Given the description of an element on the screen output the (x, y) to click on. 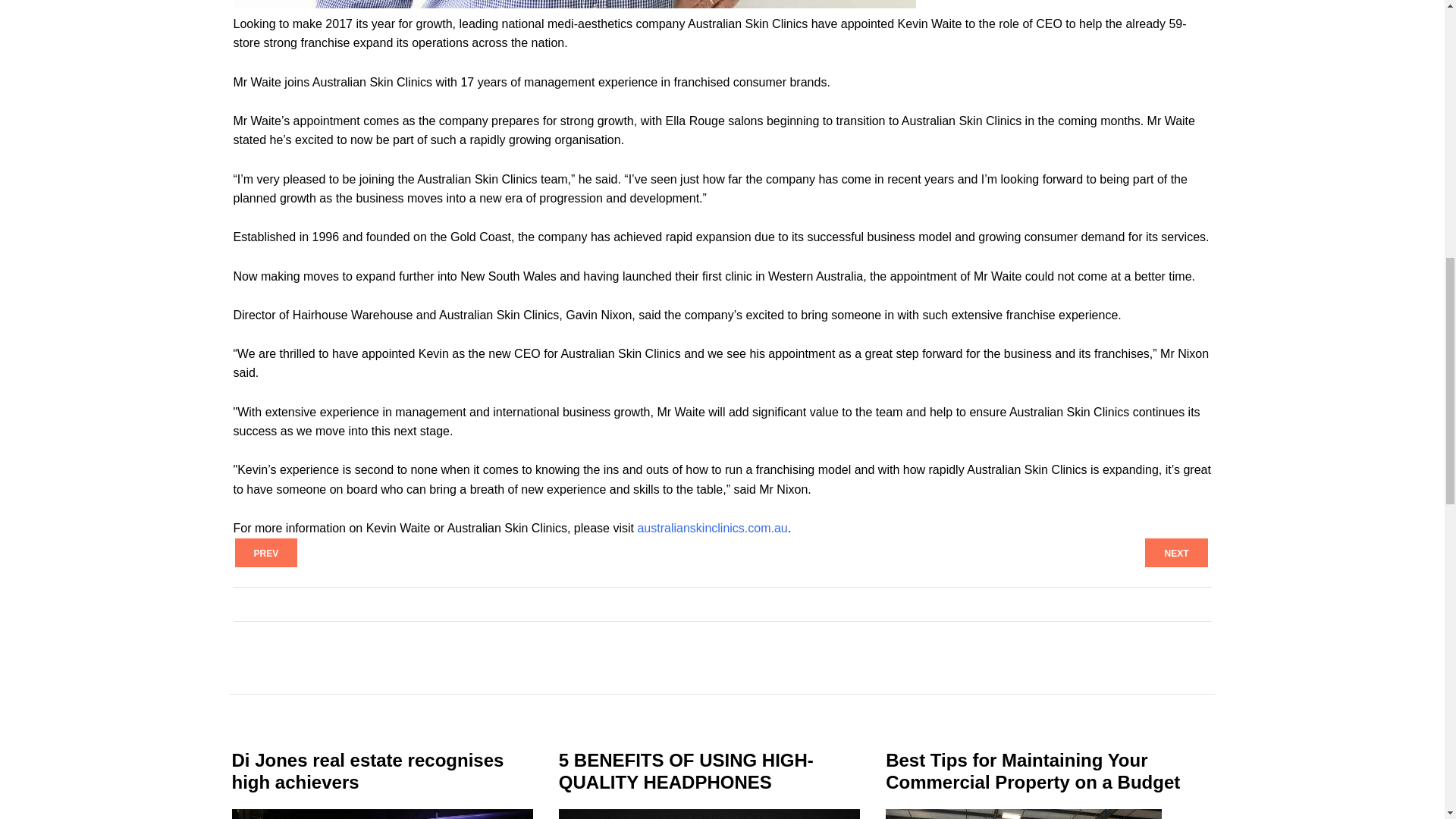
NEXT (1175, 552)
5 BENEFITS OF USING HIGH-QUALITY HEADPHONES (686, 771)
5 BENEFITS OF USING HIGH-QUALITY HEADPHONES (686, 771)
australianskinclinics.com.au (712, 527)
Di Jones real estate recognises high achievers (367, 771)
PREV (266, 552)
Di Jones real estate recognises high achievers (367, 771)
